Given the description of an element on the screen output the (x, y) to click on. 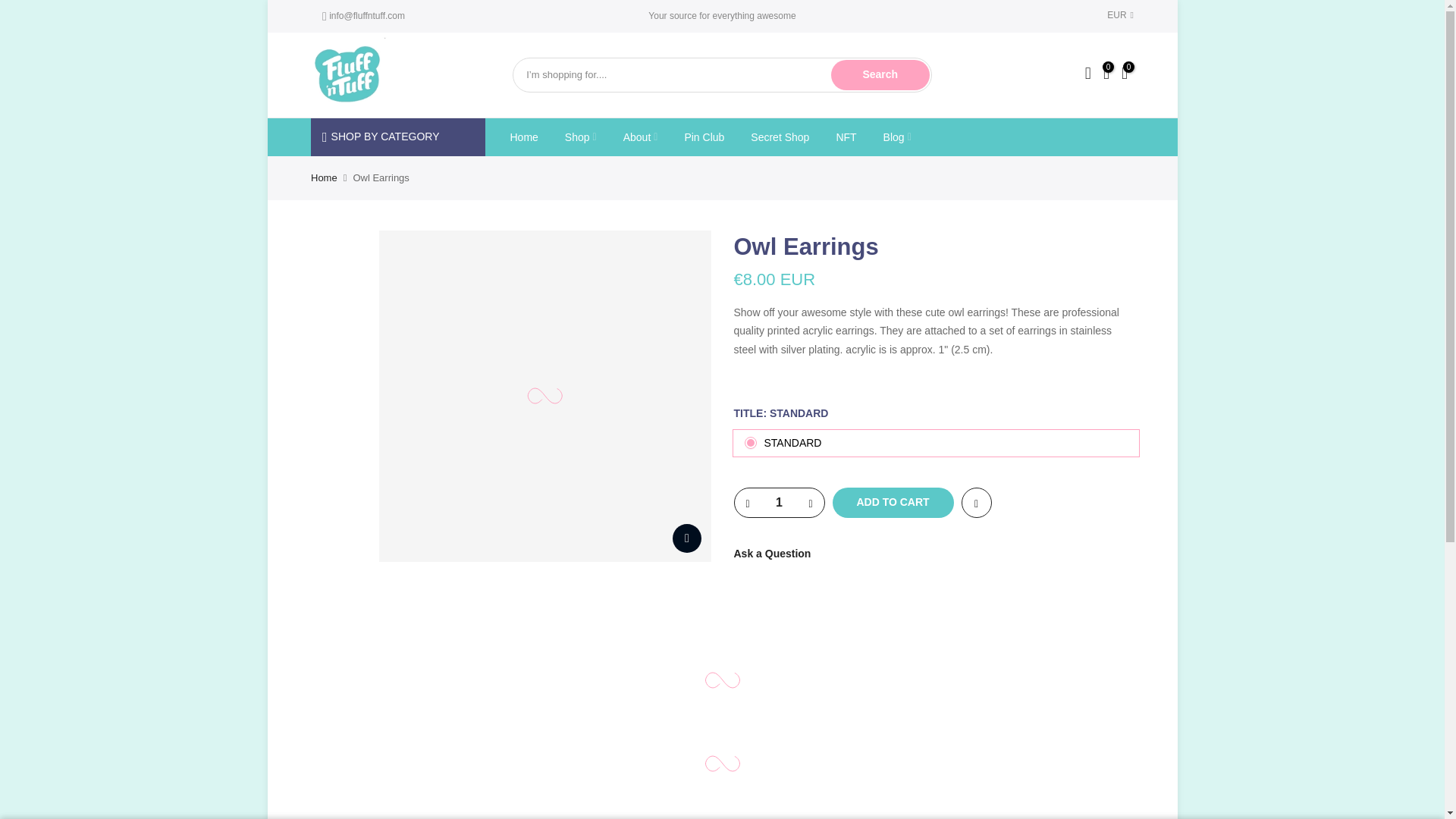
Pin Club (704, 136)
1 (778, 502)
About (640, 136)
Blog (896, 136)
Secret Shop (780, 136)
Search (880, 73)
Home (523, 136)
NFT (845, 136)
0 (1106, 75)
Shop (580, 136)
Ask a Question (771, 553)
Home (324, 176)
ADD TO CART (892, 502)
0 (1123, 75)
